Given the description of an element on the screen output the (x, y) to click on. 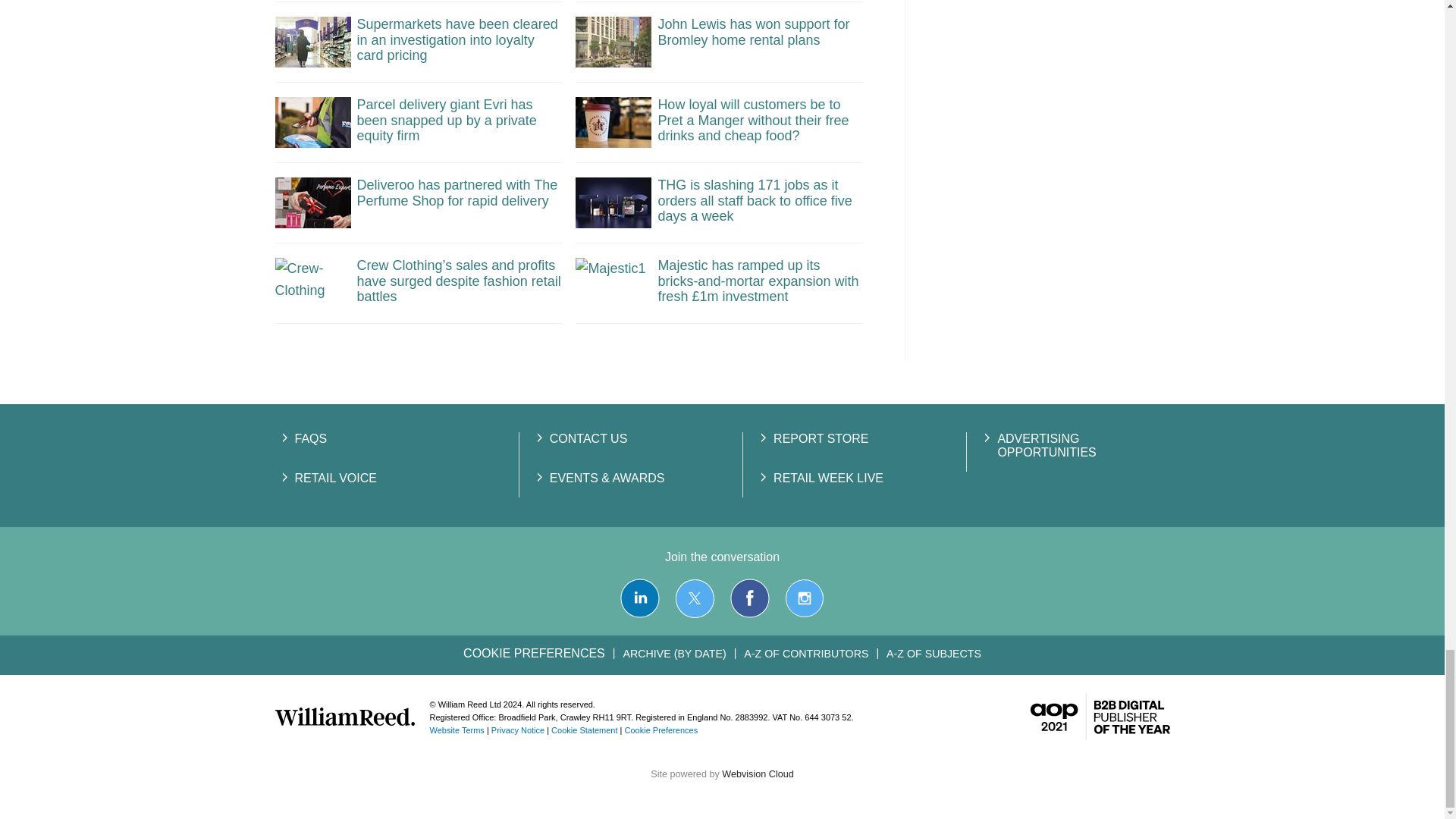
Connect with us on LinkedIn (639, 598)
Connect with us on Facebook (750, 598)
Connect with us on X (694, 598)
Connect with us on Instagram (804, 598)
